Given the description of an element on the screen output the (x, y) to click on. 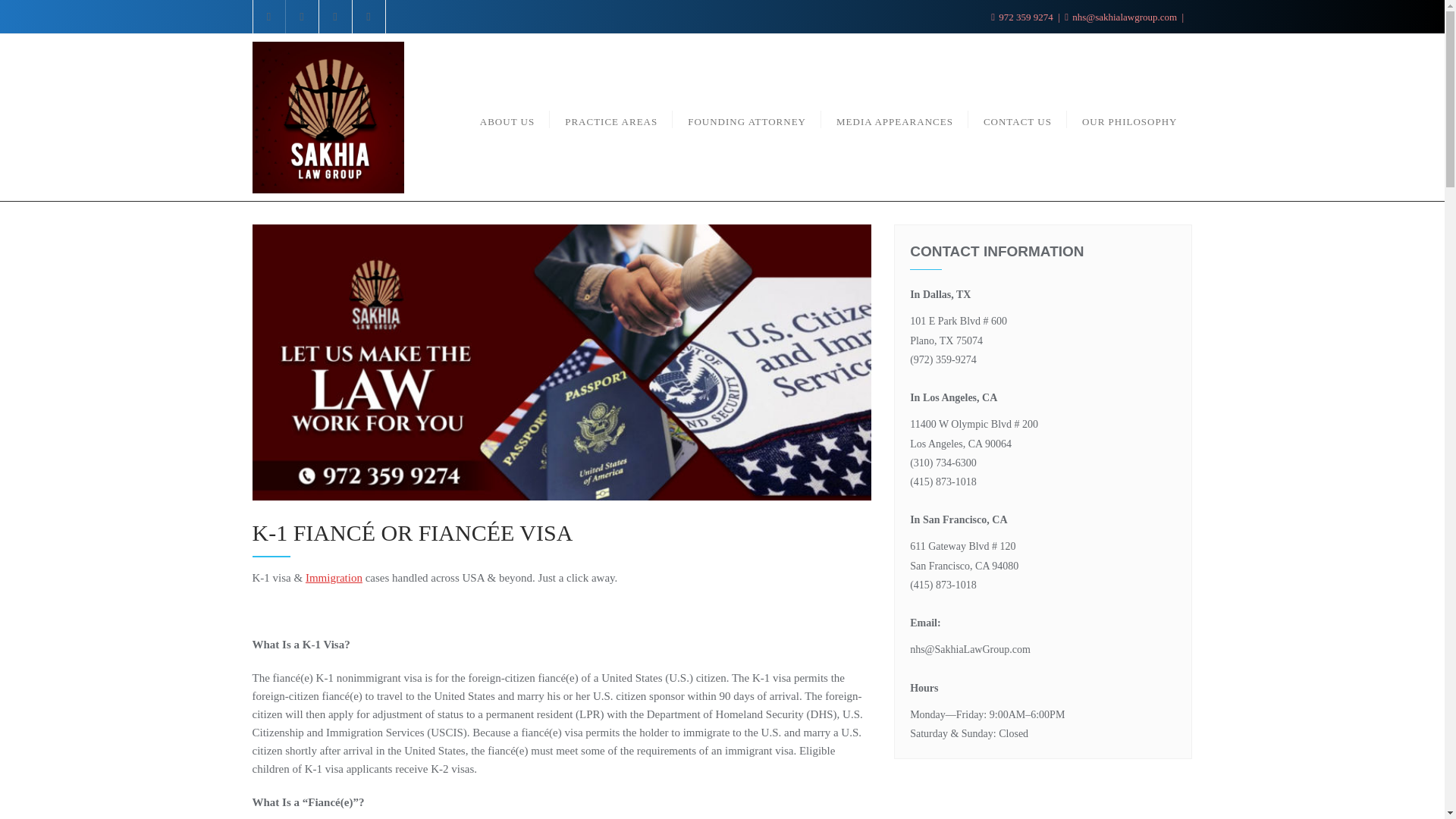
PRACTICE AREAS (611, 117)
ABOUT US (507, 117)
